Given the description of an element on the screen output the (x, y) to click on. 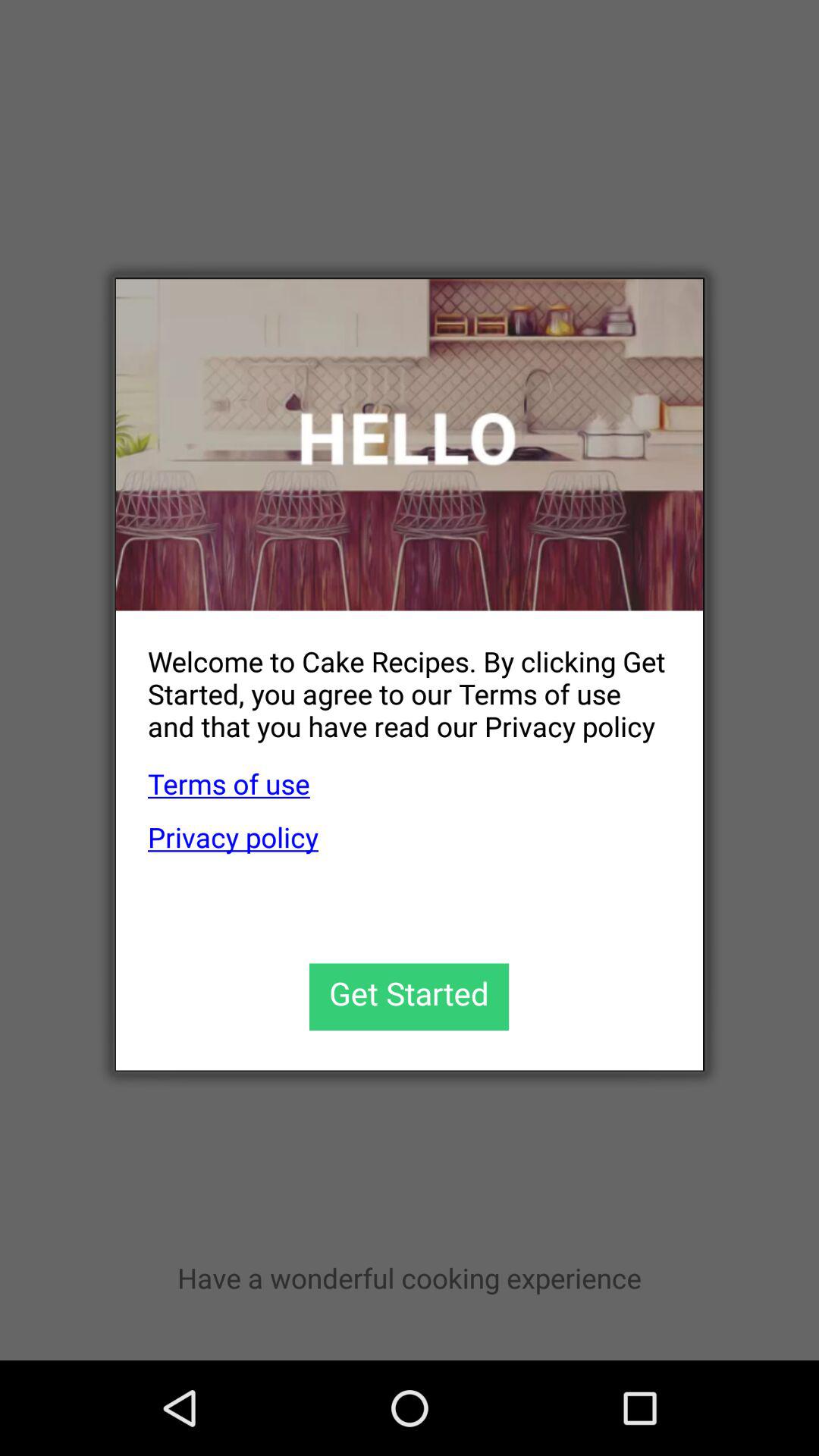
get started using the app (409, 996)
